Given the description of an element on the screen output the (x, y) to click on. 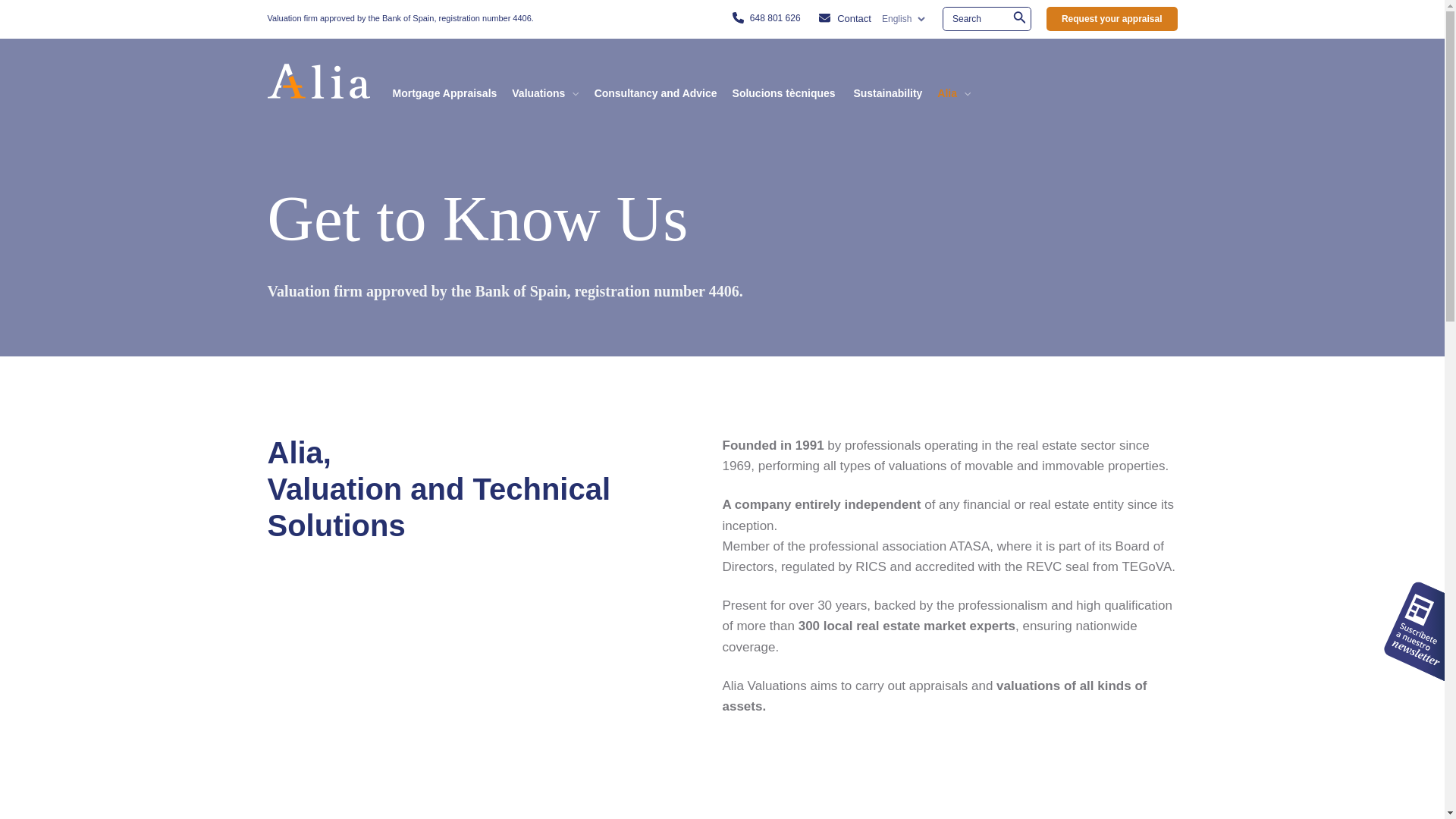
Sustainability (887, 80)
Consultancy and Advice (655, 80)
Contact (853, 18)
Mortgage Appraisals (445, 80)
Request your appraisal (1111, 18)
648 801 626 (774, 18)
Valuations (544, 80)
